Given the description of an element on the screen output the (x, y) to click on. 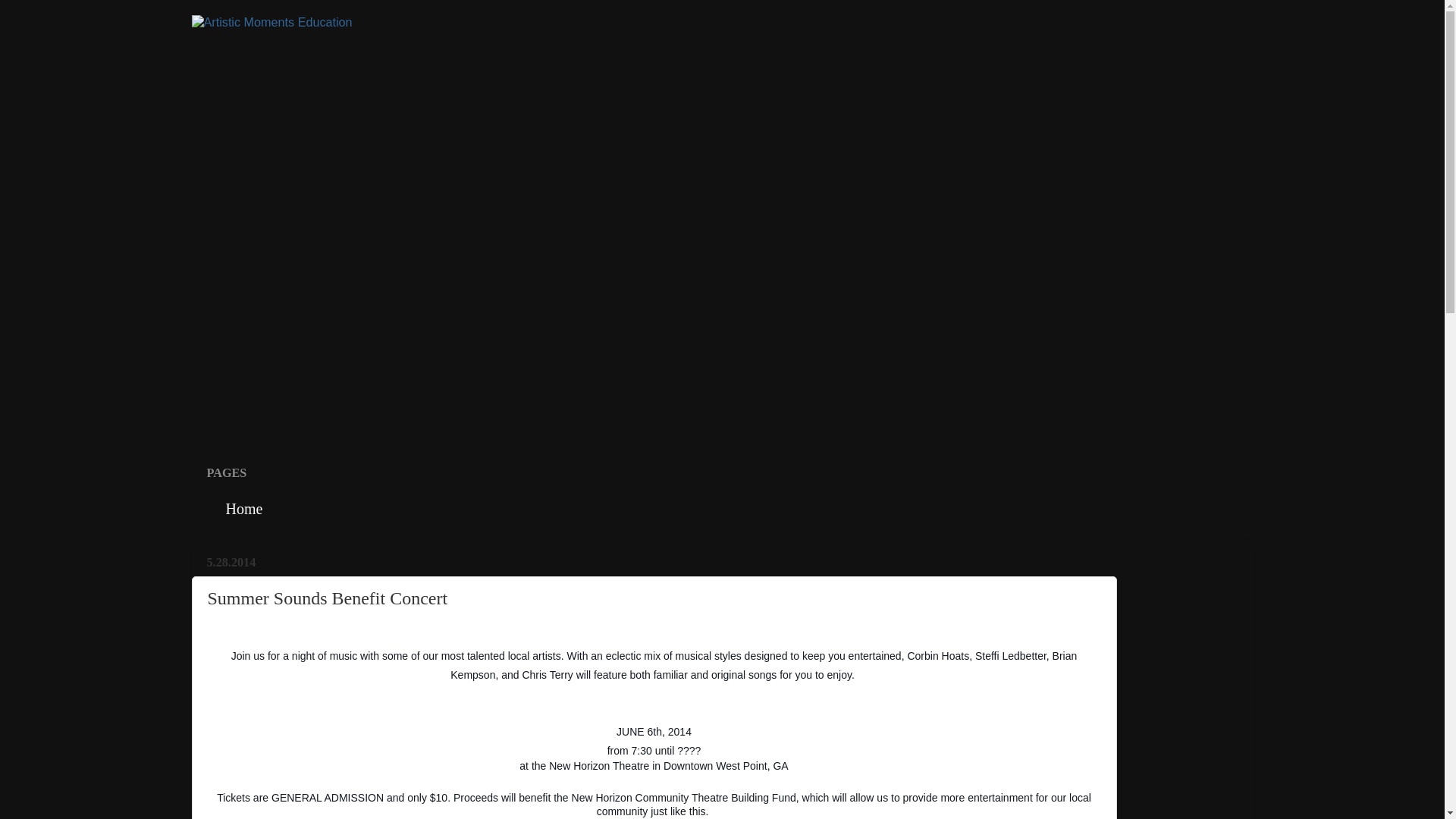
Home (242, 509)
